Given the description of an element on the screen output the (x, y) to click on. 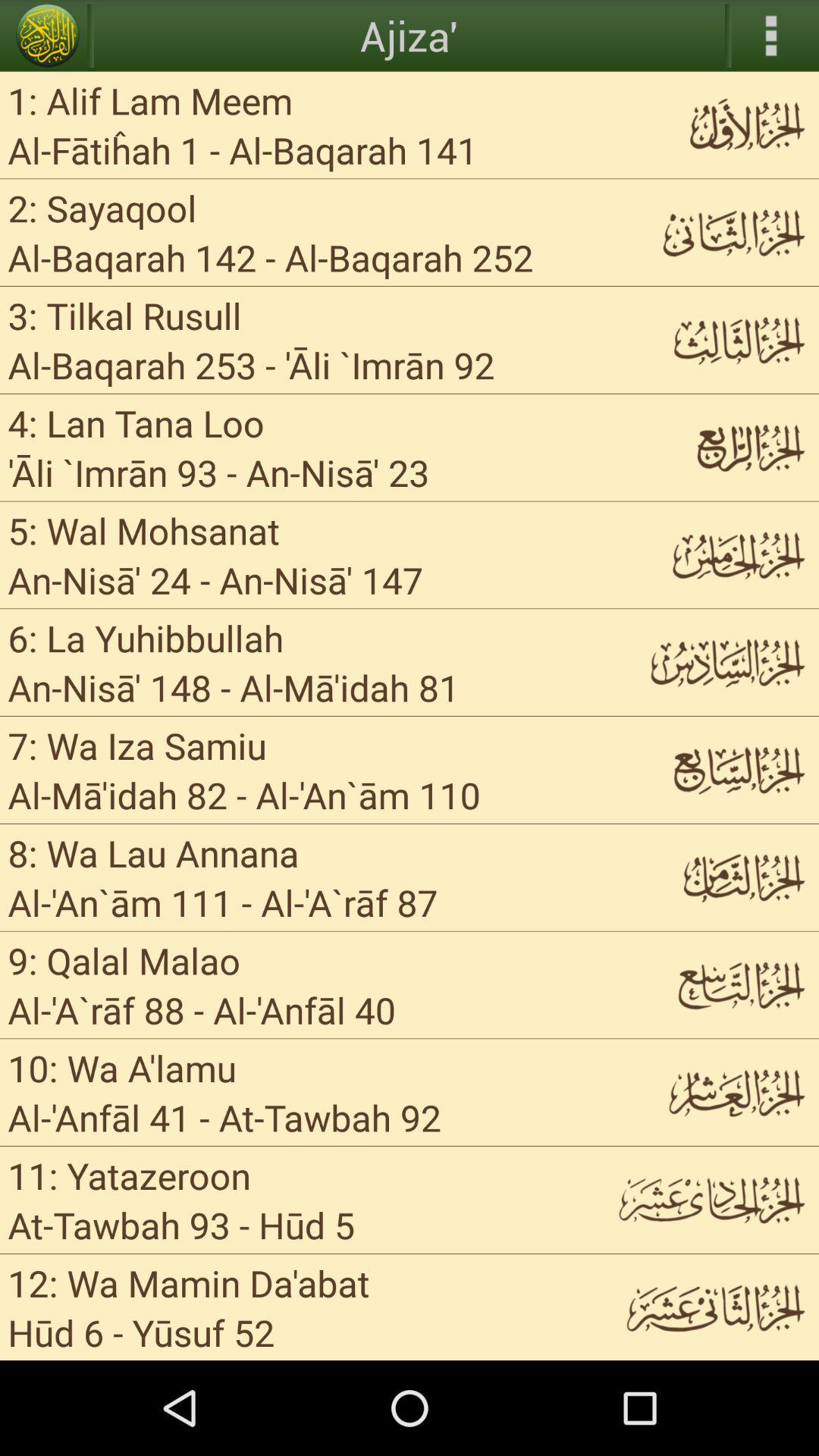
scroll to the 4 lan tana (135, 422)
